Given the description of an element on the screen output the (x, y) to click on. 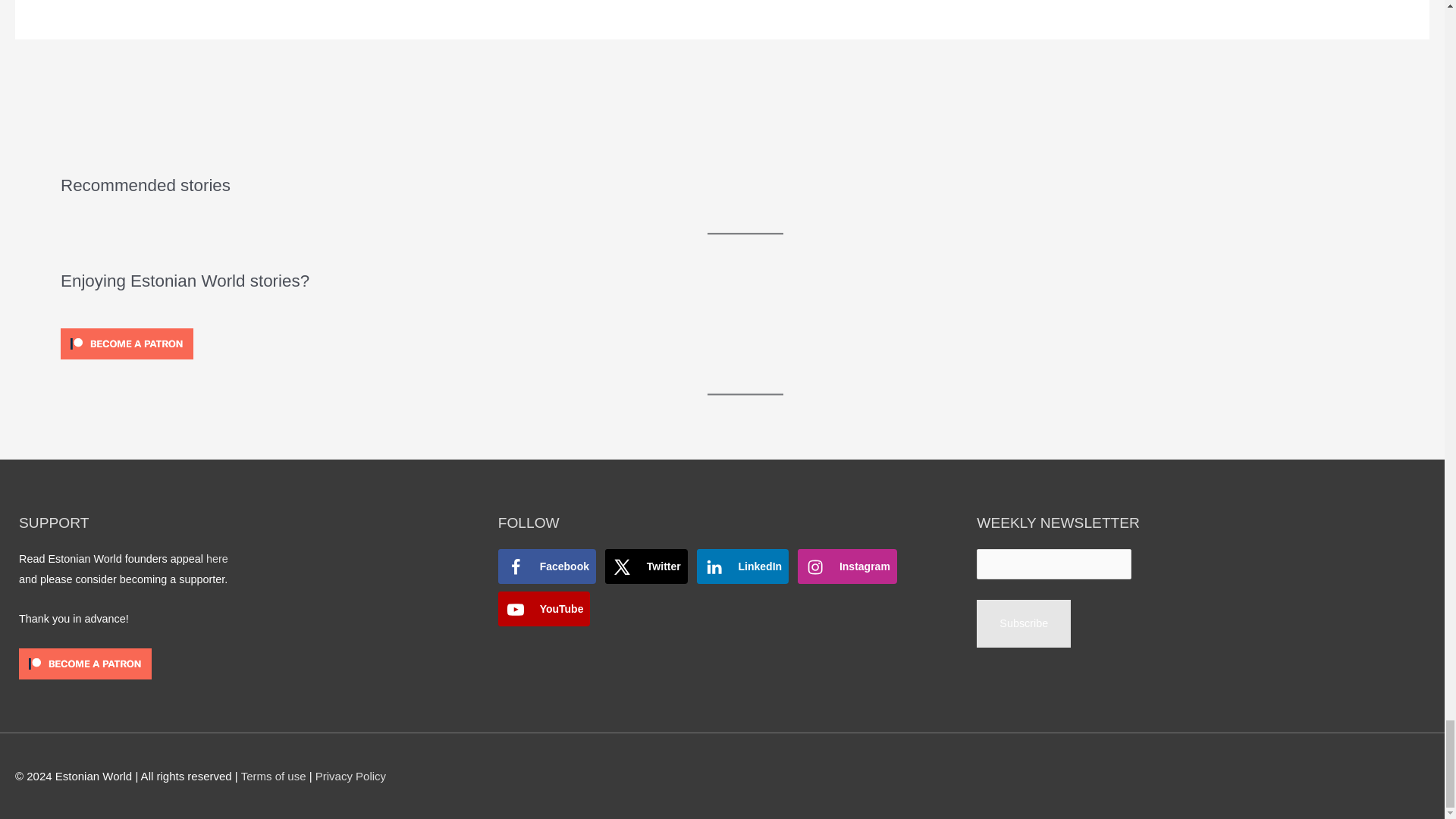
Follow on X (646, 565)
Follow on LinkedIn (743, 565)
Subscribe (1023, 623)
Follow on Facebook (546, 565)
